Given the description of an element on the screen output the (x, y) to click on. 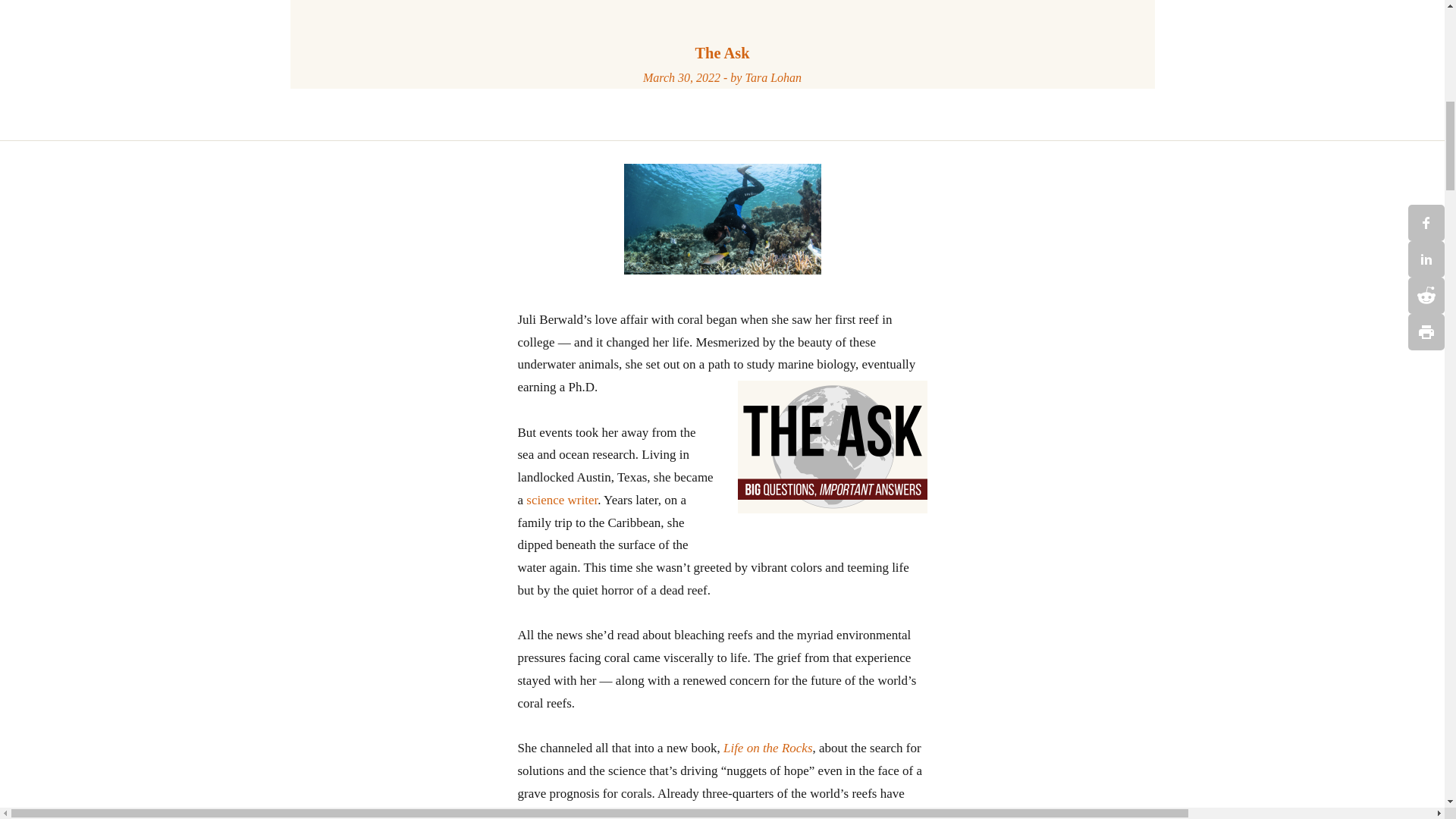
Tara Lohan (773, 77)
The Ask (722, 53)
